Given the description of an element on the screen output the (x, y) to click on. 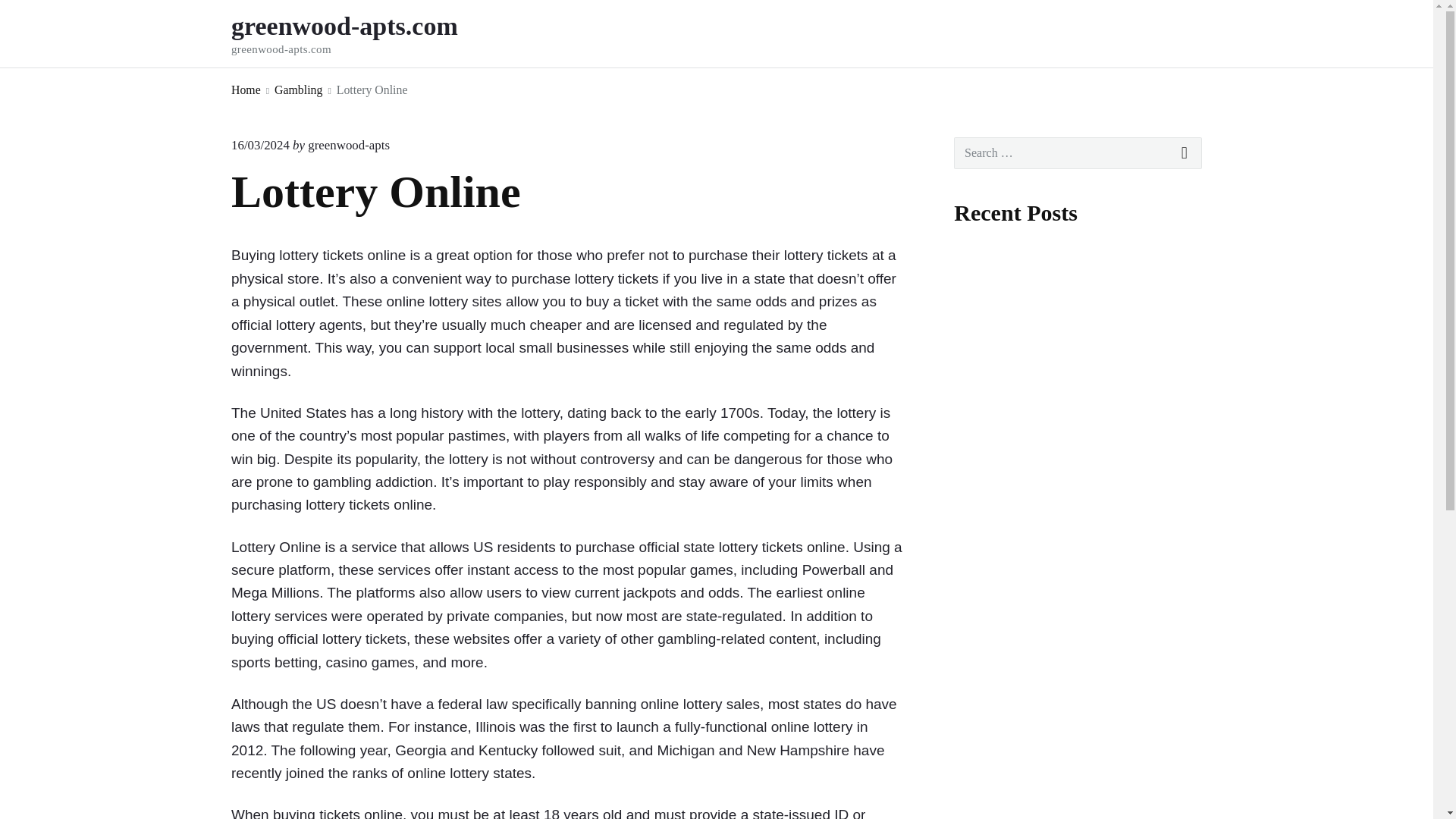
greenwood-apts (348, 145)
Saturday, March 16, 2024, 3:34 pm (260, 145)
SEARCH (1184, 152)
Home (245, 89)
Posts by greenwood-apts (348, 145)
Gambling (298, 89)
Search for: (1077, 152)
